Given the description of an element on the screen output the (x, y) to click on. 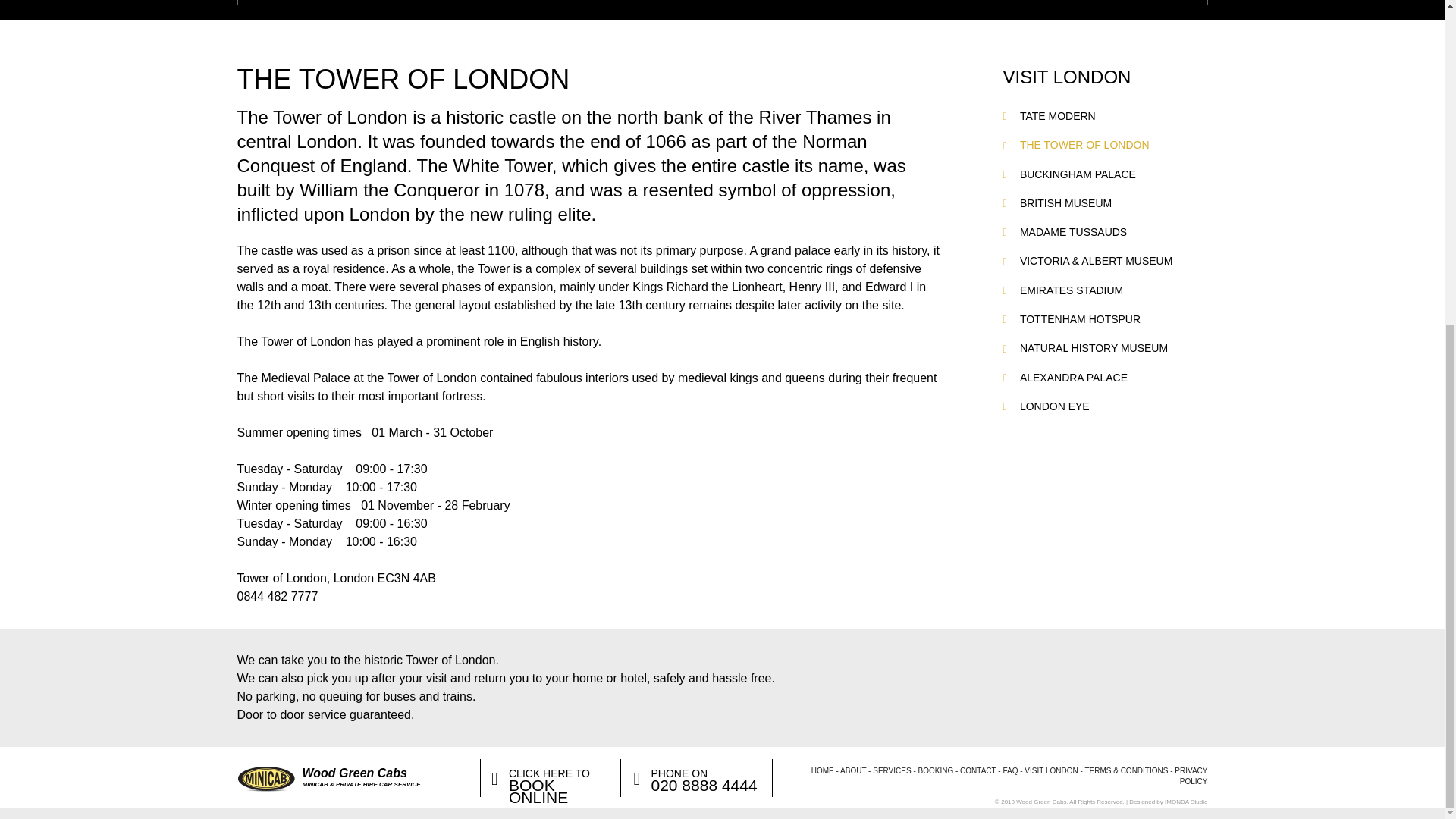
The Tower of London (1085, 144)
THE TOWER OF LONDON (1085, 144)
TOTTENHAM HOTSPUR (1080, 318)
Alexandra Palace (1073, 377)
London Eye (1054, 406)
TATE MODERN (1058, 115)
Booking (935, 770)
HOME (822, 770)
FAQ (1010, 770)
VISIT LONDON (1051, 770)
Home Page (822, 770)
Natural History Museum (1093, 347)
Madame Tussauds (1073, 232)
ABOUT (853, 770)
BOOKING (935, 770)
